Given the description of an element on the screen output the (x, y) to click on. 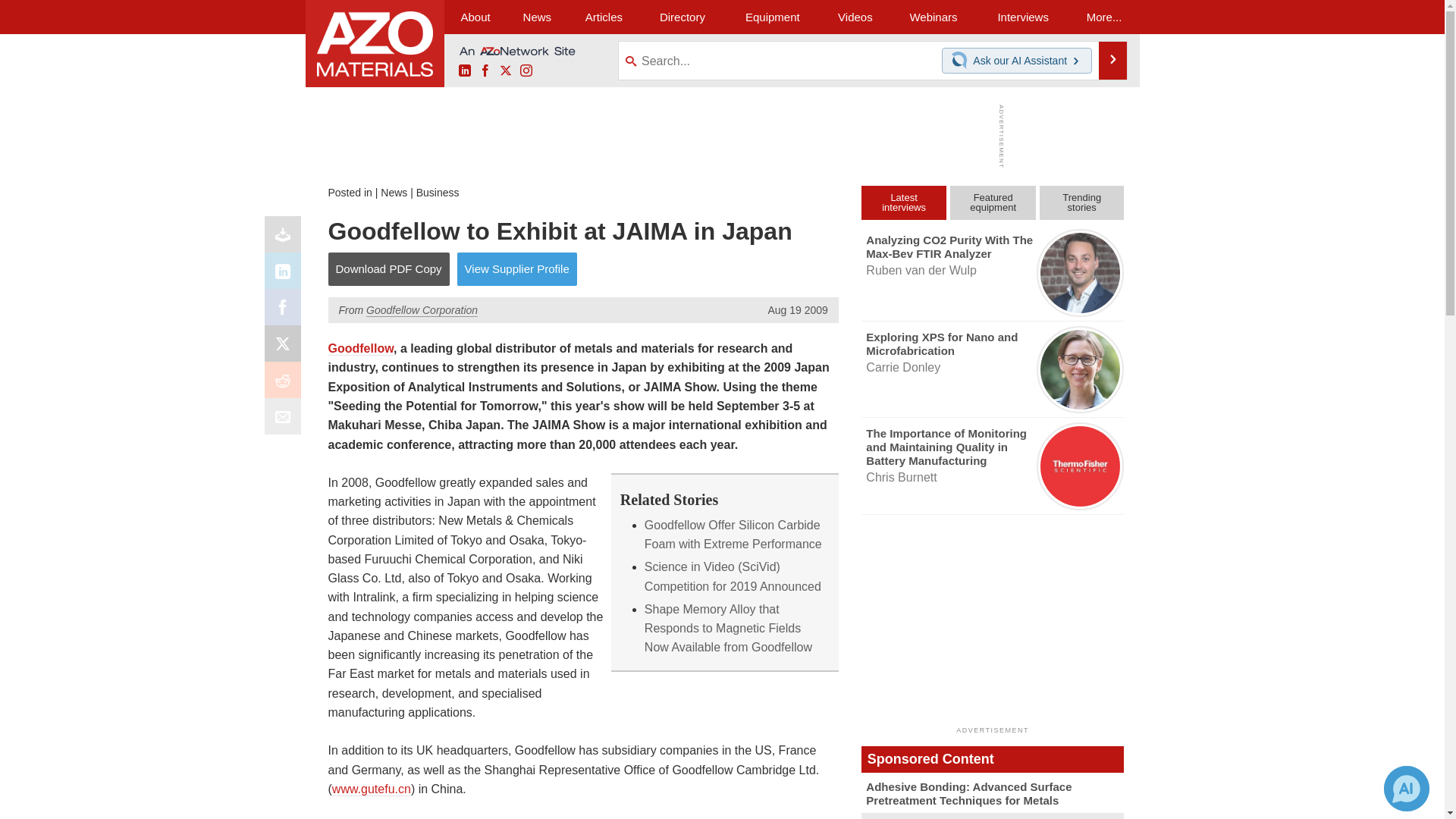
LinkedIn (464, 71)
X (285, 348)
Equipment (772, 17)
Videos (855, 17)
About (475, 17)
3rd party ad content (718, 136)
3rd party ad content (992, 624)
Facebook (285, 311)
Chat with our AI Assistant (962, 60)
